Given the description of an element on the screen output the (x, y) to click on. 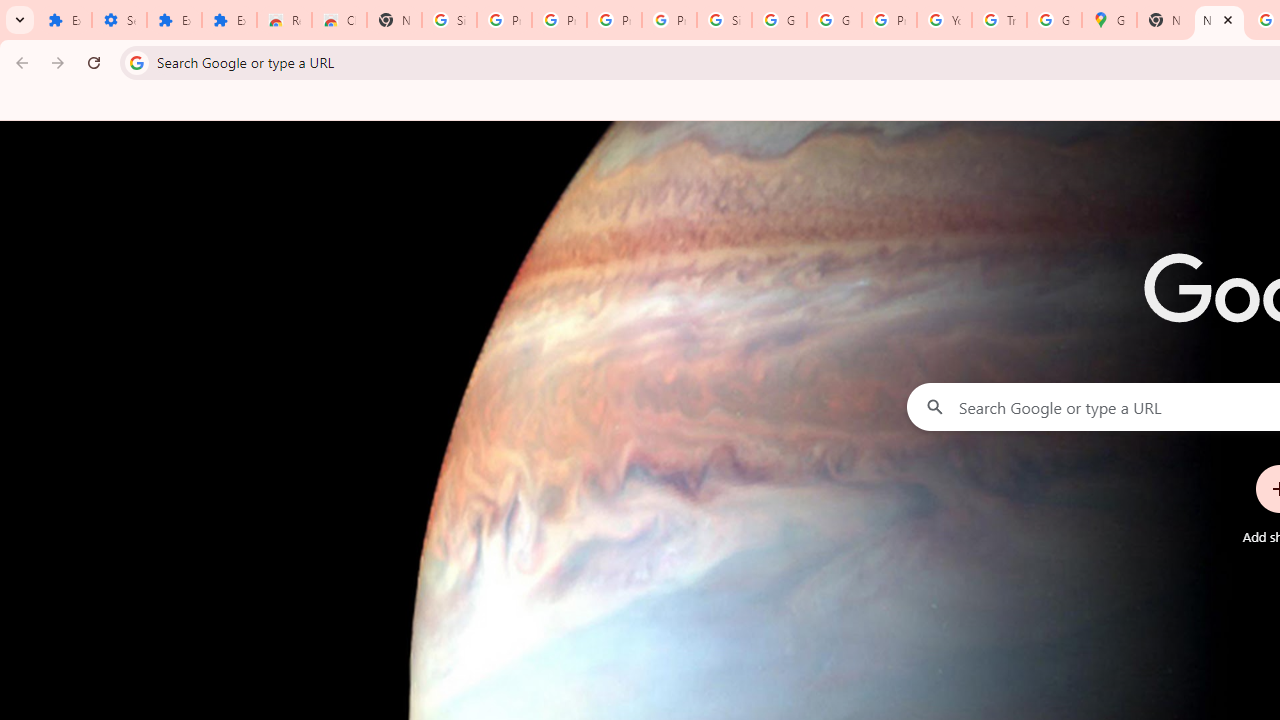
Chrome Web Store - Themes (339, 20)
Extensions (174, 20)
New Tab (1218, 20)
Google Maps (1108, 20)
Reviews: Helix Fruit Jump Arcade Game (284, 20)
Sign in - Google Accounts (724, 20)
Extensions (229, 20)
